Given the description of an element on the screen output the (x, y) to click on. 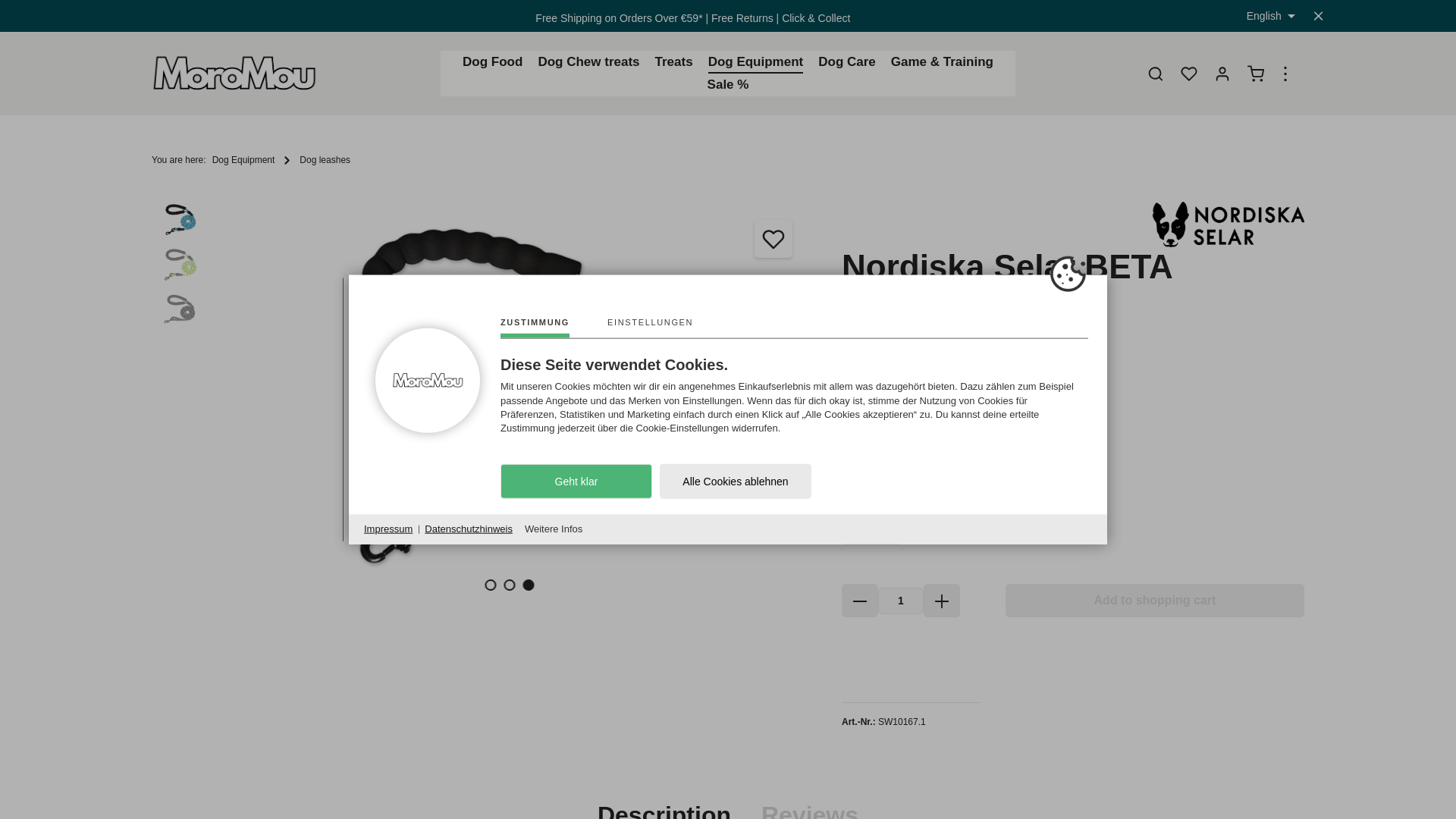
Dog Food (491, 61)
Dog Chew treats (587, 61)
Dog Food (491, 61)
Dog Care (846, 61)
1 (900, 601)
Go to homepage (234, 73)
Treats (673, 61)
Treats  (673, 61)
Dog Equipment (755, 61)
Dog Equipment (755, 61)
Dog Chew treats (587, 61)
English (1269, 15)
